Given the description of an element on the screen output the (x, y) to click on. 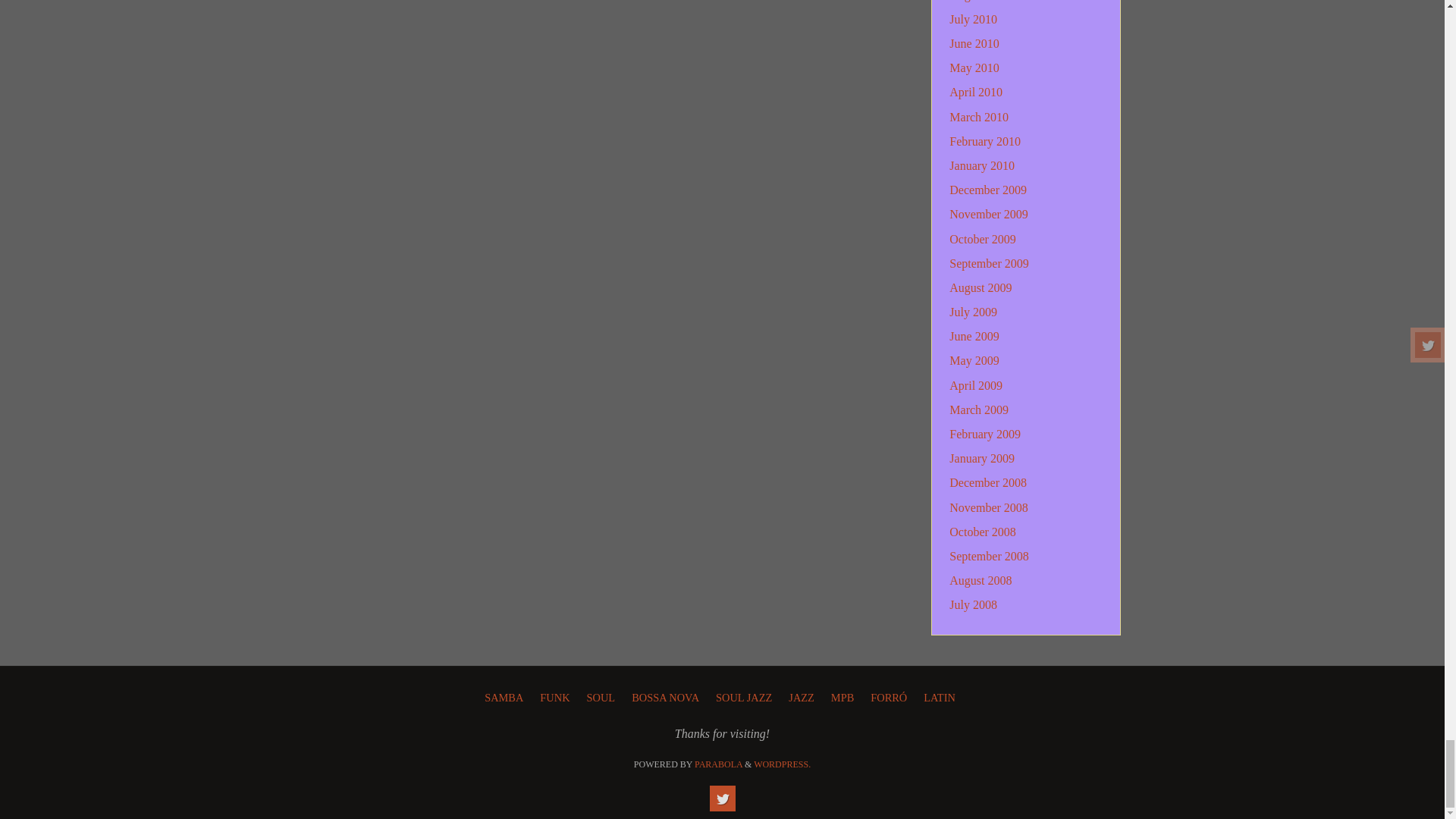
Semantic Personal Publishing Platform (782, 764)
Twitter (722, 798)
Parabola Theme by Cryout Creations (718, 764)
